Given the description of an element on the screen output the (x, y) to click on. 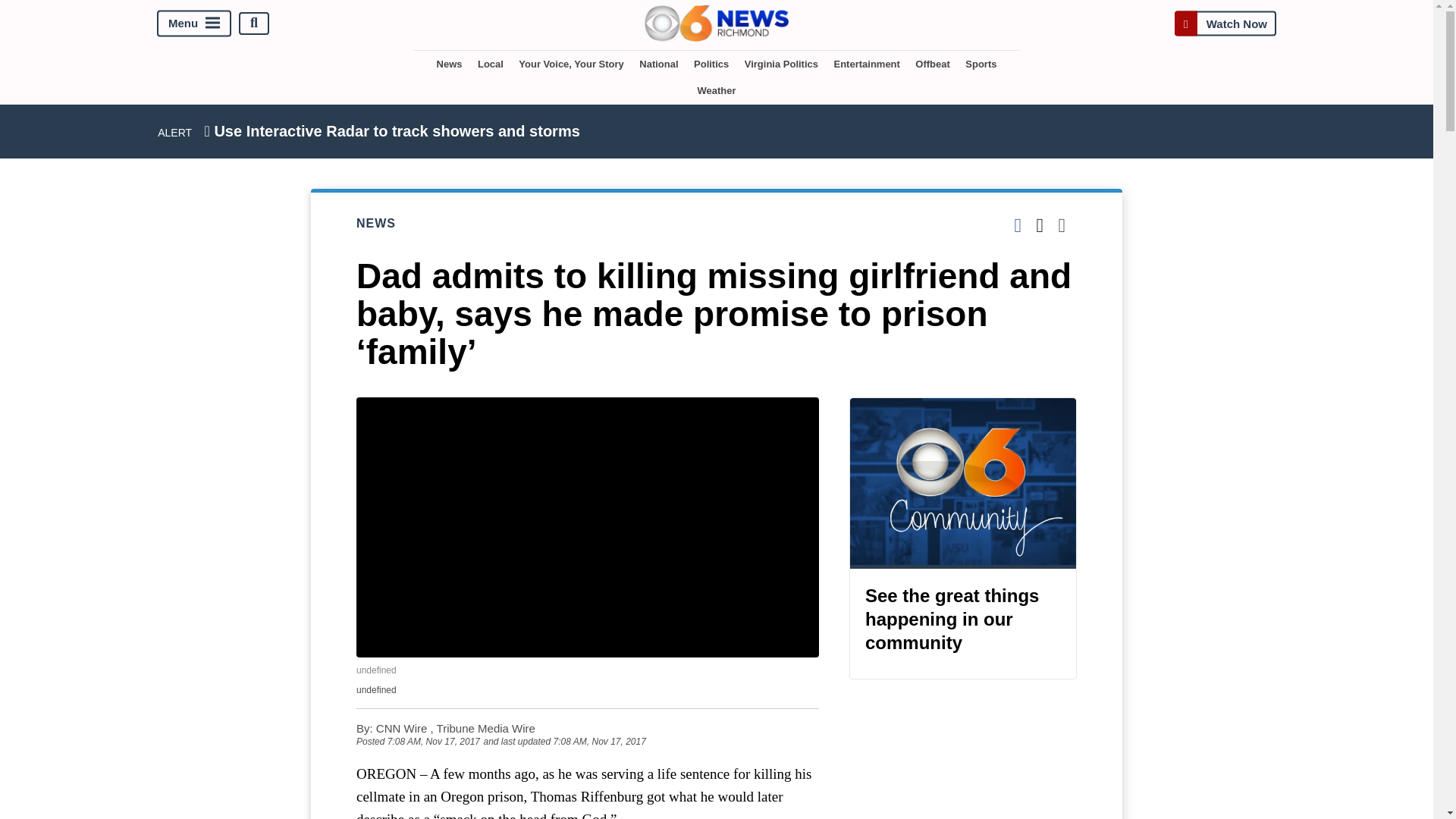
Menu (194, 22)
Watch Now (1224, 22)
